Given the description of an element on the screen output the (x, y) to click on. 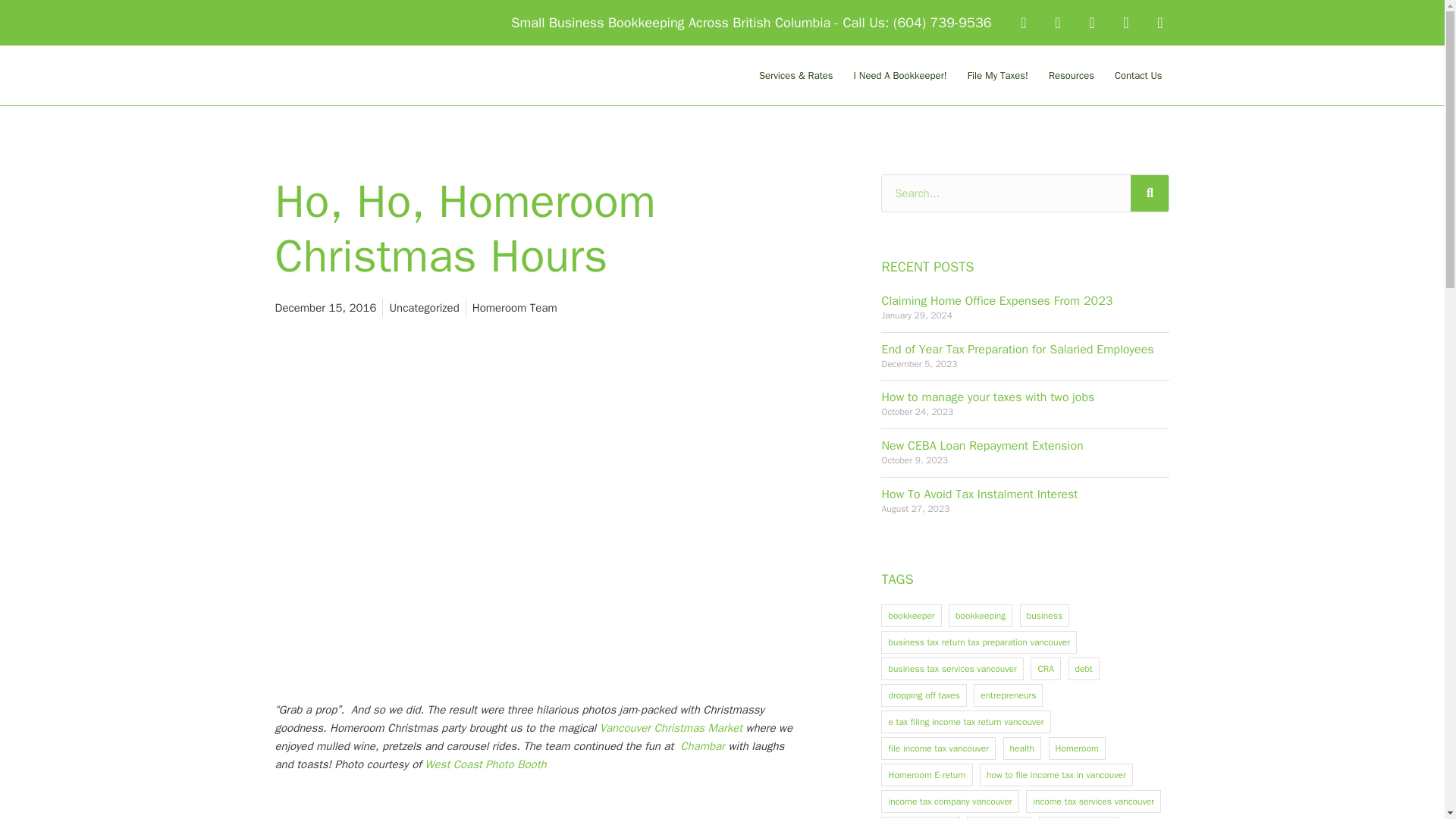
I Need A Bookkeeper! (900, 75)
Resources (1071, 75)
File My Taxes! (997, 75)
Chambar (702, 745)
End of Year Tax Preparation for Salaried Employees (1016, 349)
Vancouver Christmas Market (670, 727)
Contact Us (1138, 75)
Claiming Home Office Expenses From 2023 (996, 300)
